Given the description of an element on the screen output the (x, y) to click on. 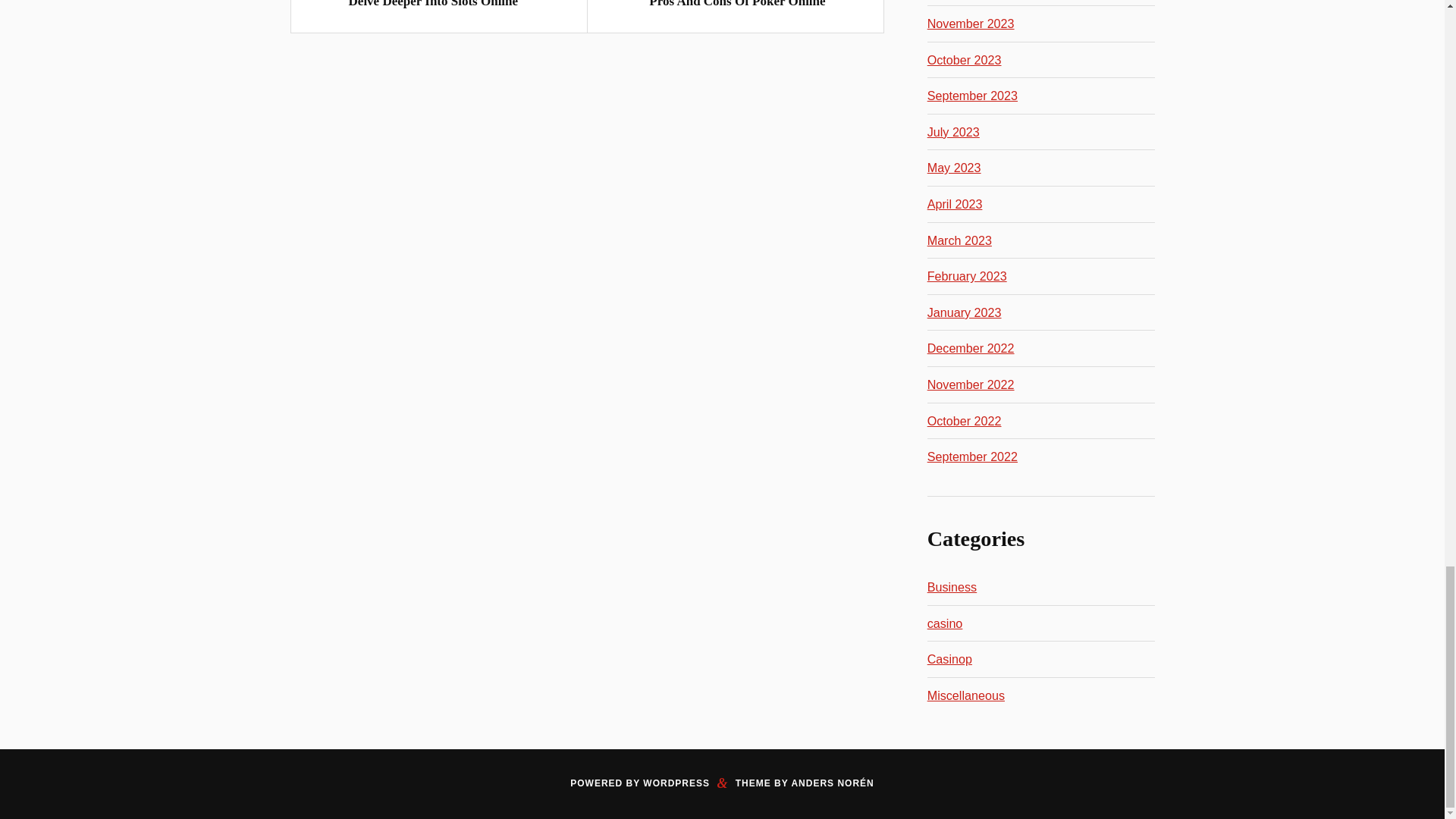
Delve Deeper Into Slots Online (433, 4)
October 2023 (964, 59)
November 2023 (970, 23)
Pros And Cons Of Poker Online (737, 4)
